Given the description of an element on the screen output the (x, y) to click on. 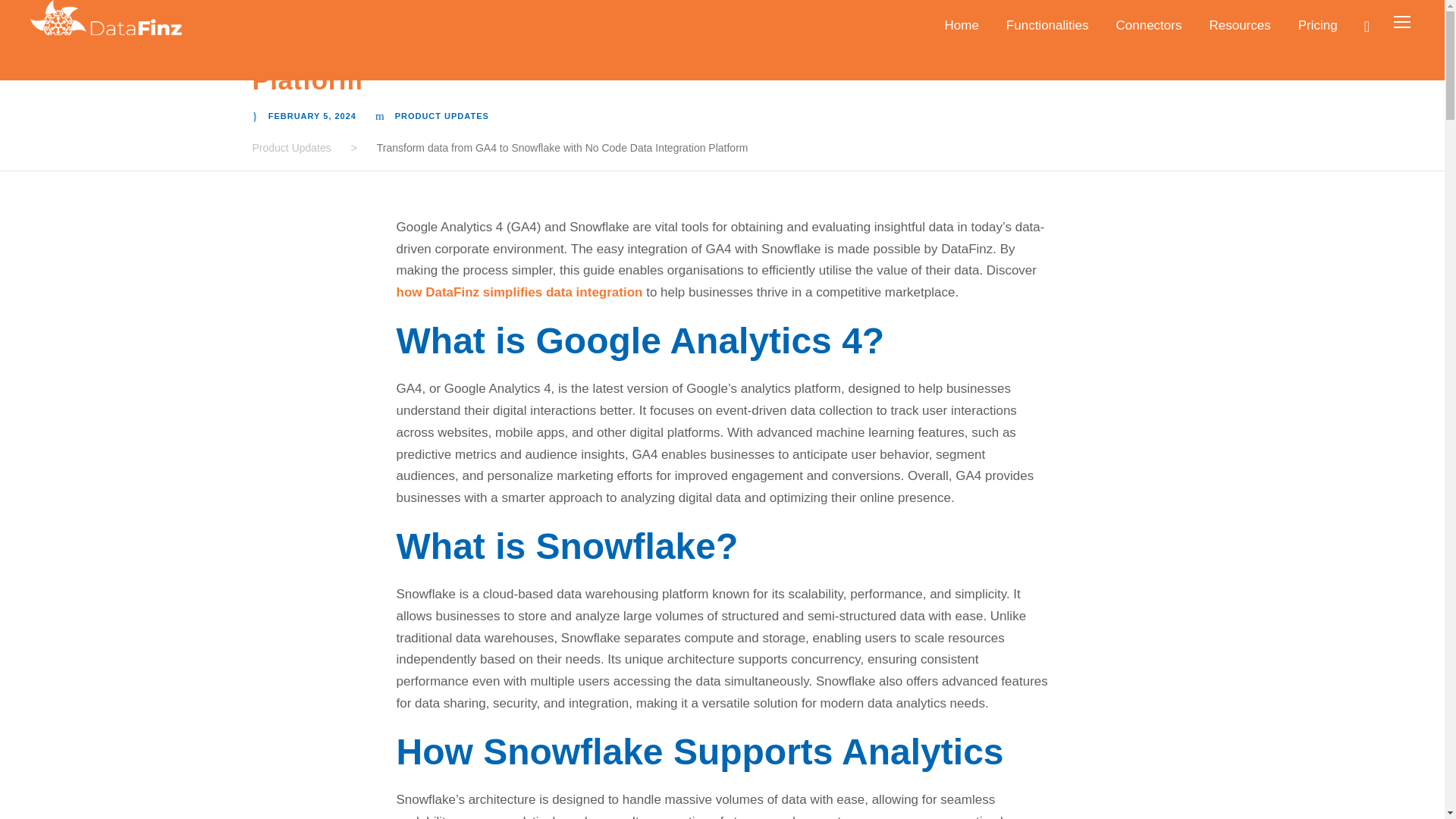
PRODUCT UPDATES (441, 115)
Home (960, 32)
how DataFinz simplifies data integration (519, 292)
Connectors (1149, 32)
Functionalities (1047, 32)
Product Updates (290, 147)
Pricing (1318, 32)
FEBRUARY 5, 2024 (311, 115)
Resources (1238, 32)
Go to the Product Updates Category archives. (290, 147)
